Given the description of an element on the screen output the (x, y) to click on. 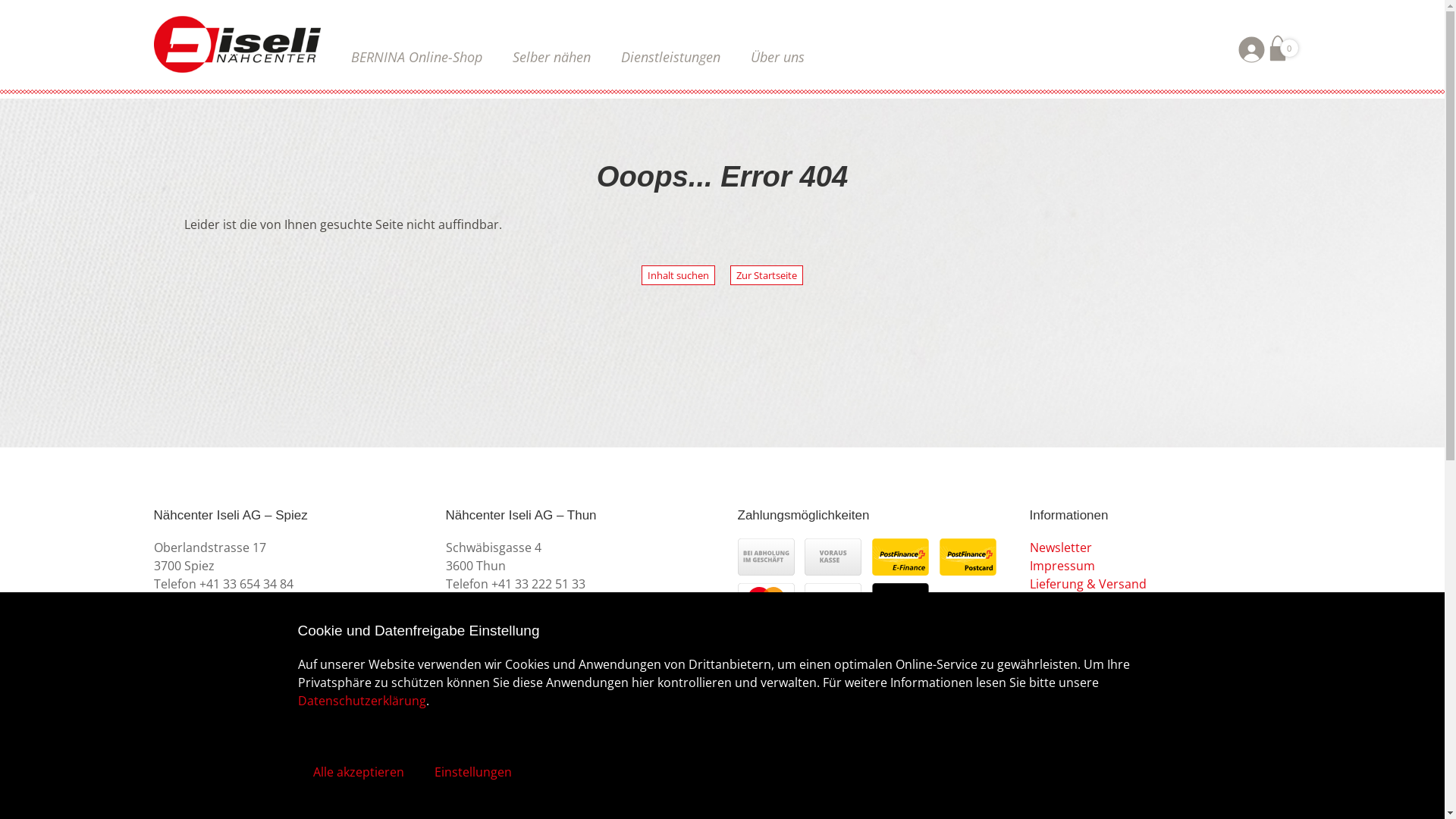
Lieferung & Versand Element type: text (1087, 583)
Alle akzeptieren Element type: text (357, 771)
Impressum Element type: text (1062, 565)
Einstellungen Element type: text (472, 771)
Cookie-Einstellungen Element type: text (1089, 638)
YouTube: Bernina International AG Element type: hover (1076, 674)
Weitere Infos Element type: text (192, 756)
BERNINA Online-Shop Element type: text (415, 56)
AGB Element type: text (1041, 601)
Weitere Infos Element type: text (485, 756)
Zur Startseite Element type: text (766, 275)
Datenschutz Element type: text (1065, 619)
Newsletter Element type: text (1060, 547)
Dienstleistungen Element type: text (669, 56)
Inhalt suchen Element type: text (678, 275)
